Given the description of an element on the screen output the (x, y) to click on. 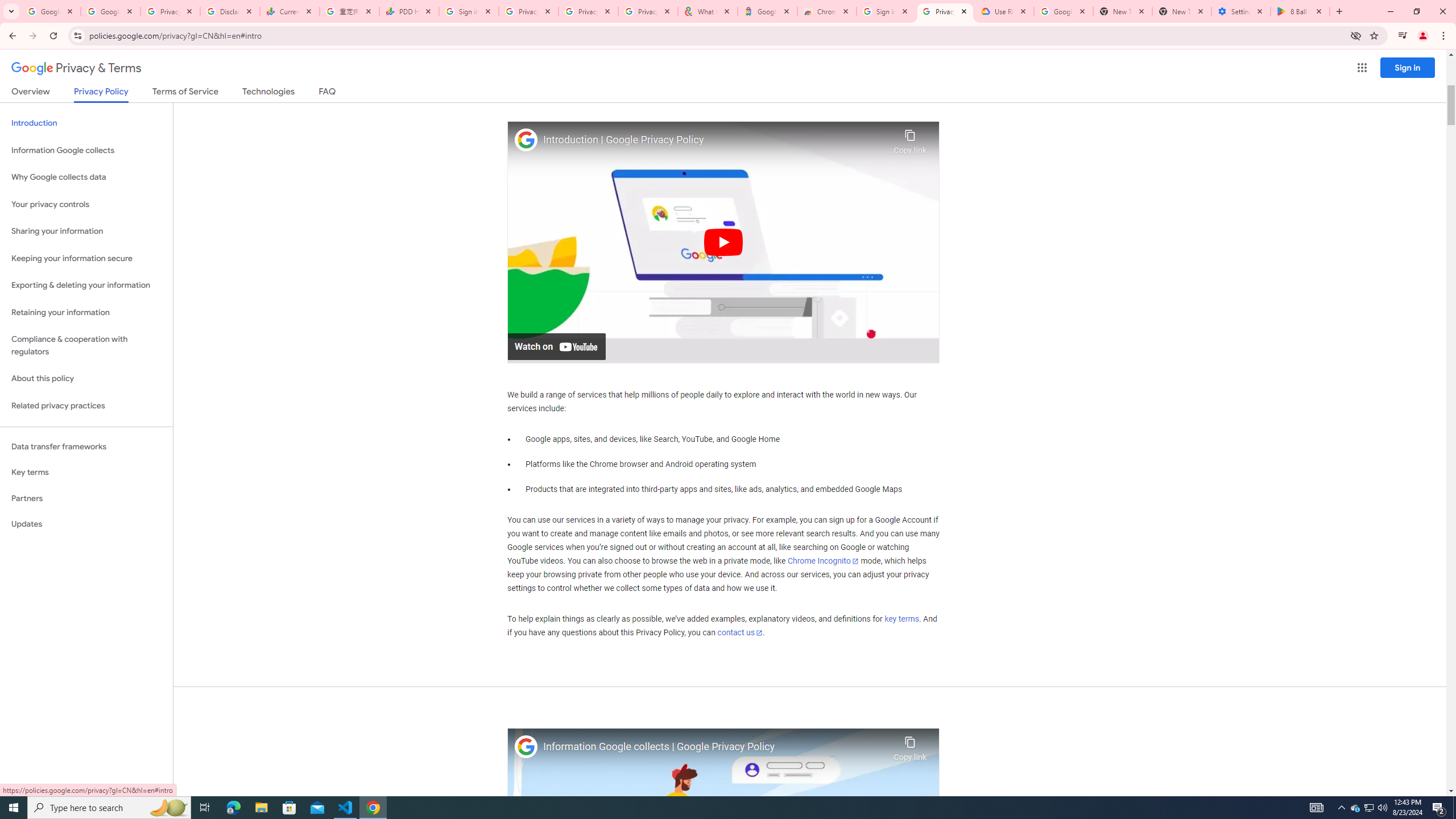
Partners (86, 497)
Introduction | Google Privacy Policy (715, 139)
8 Ball Pool - Apps on Google Play (1300, 11)
Key terms (86, 472)
Currencies - Google Finance (289, 11)
contact us (739, 633)
Play (723, 241)
